Given the description of an element on the screen output the (x, y) to click on. 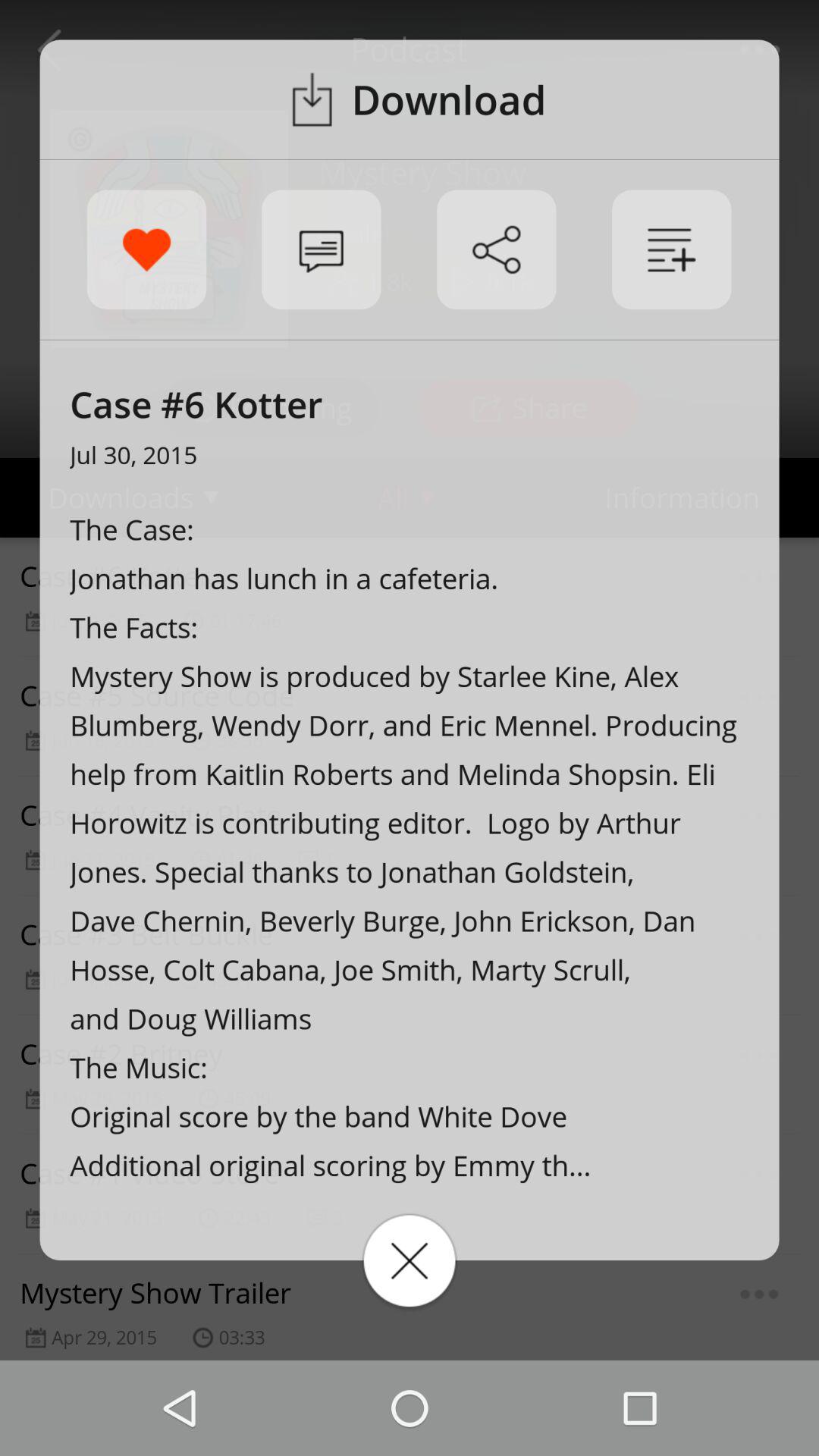
close it (409, 1260)
